Given the description of an element on the screen output the (x, y) to click on. 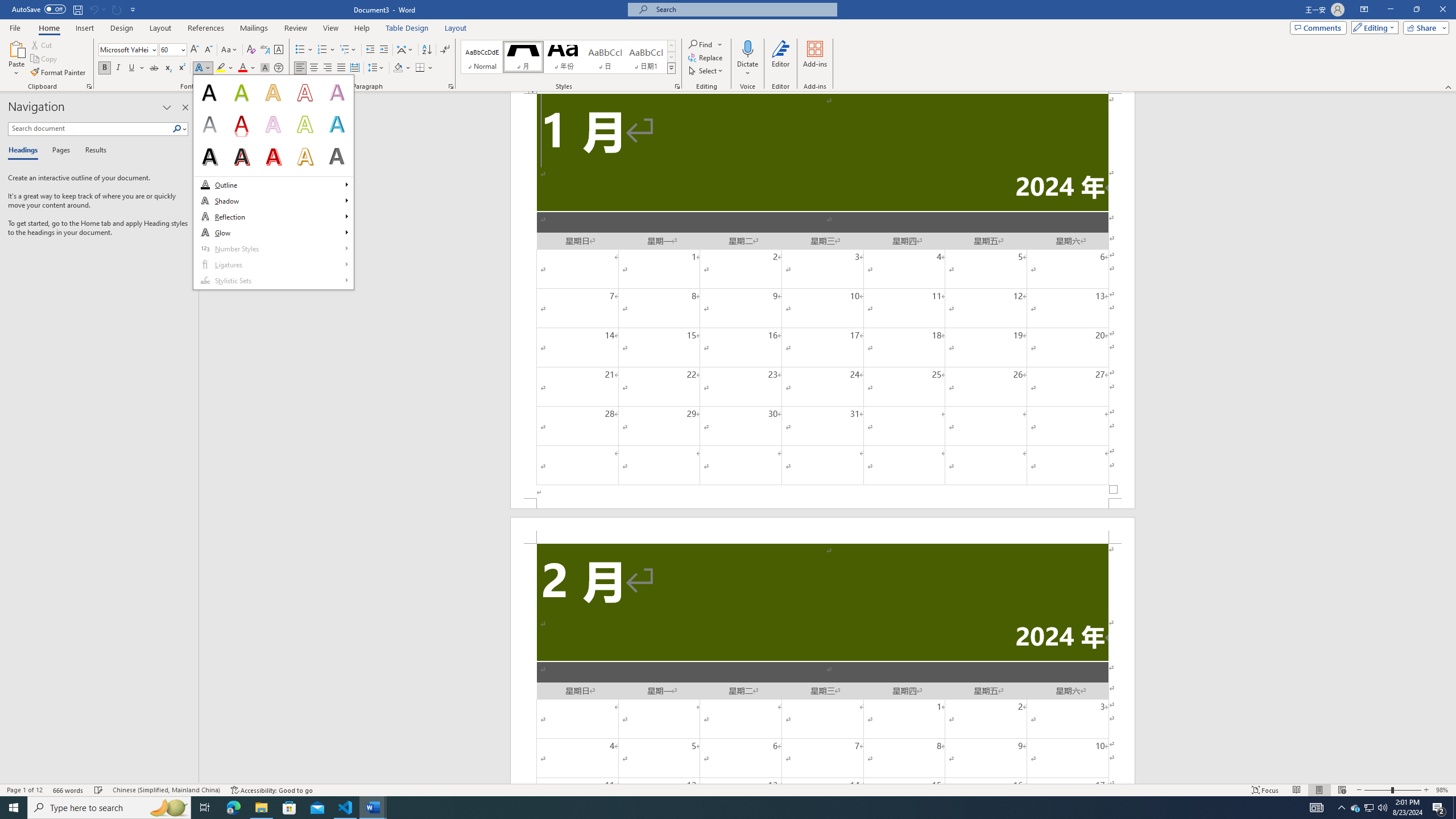
Page Number Page 1 of 12 (24, 790)
